Given the description of an element on the screen output the (x, y) to click on. 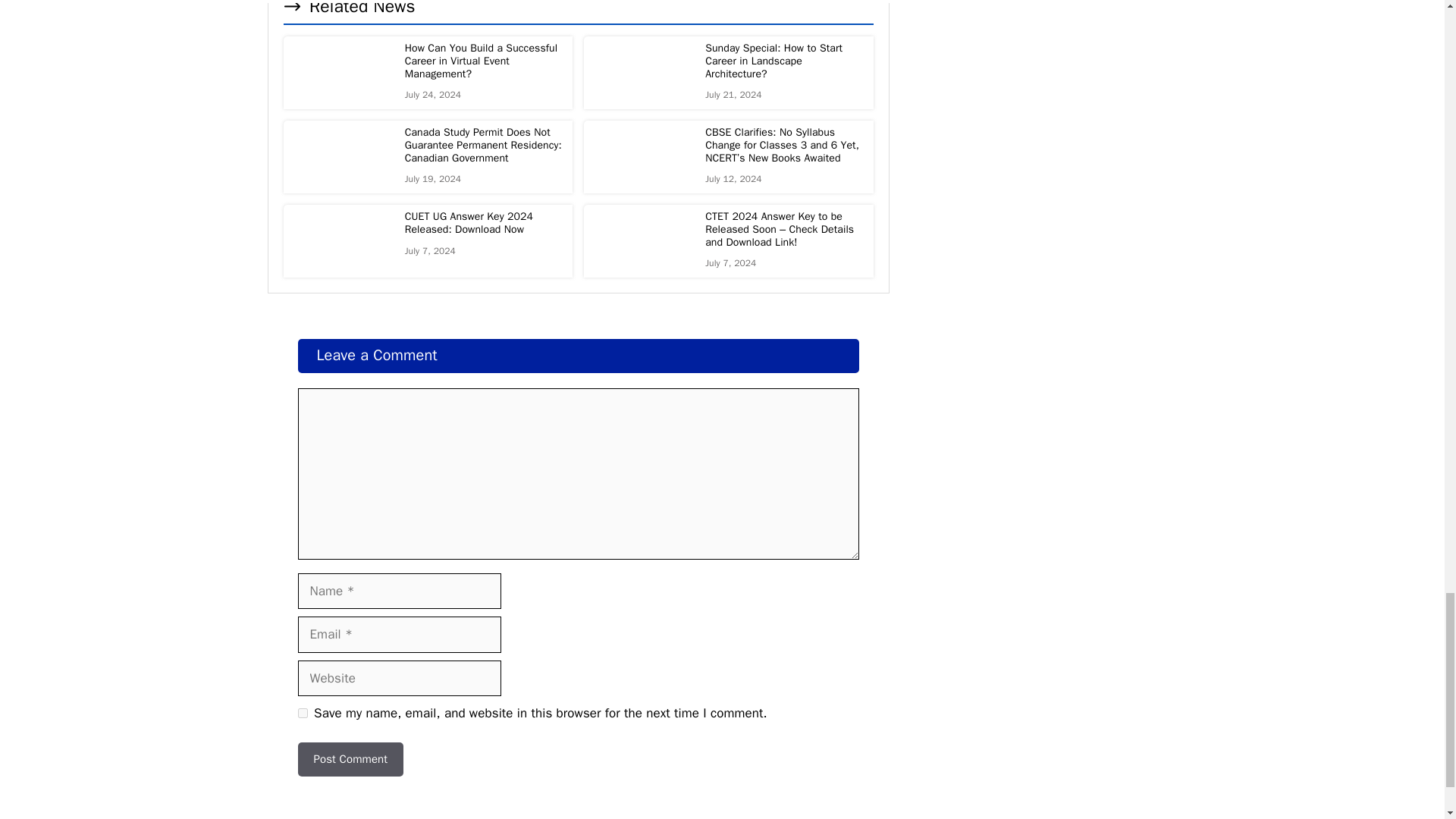
yes (302, 713)
Post Comment (350, 759)
